Given the description of an element on the screen output the (x, y) to click on. 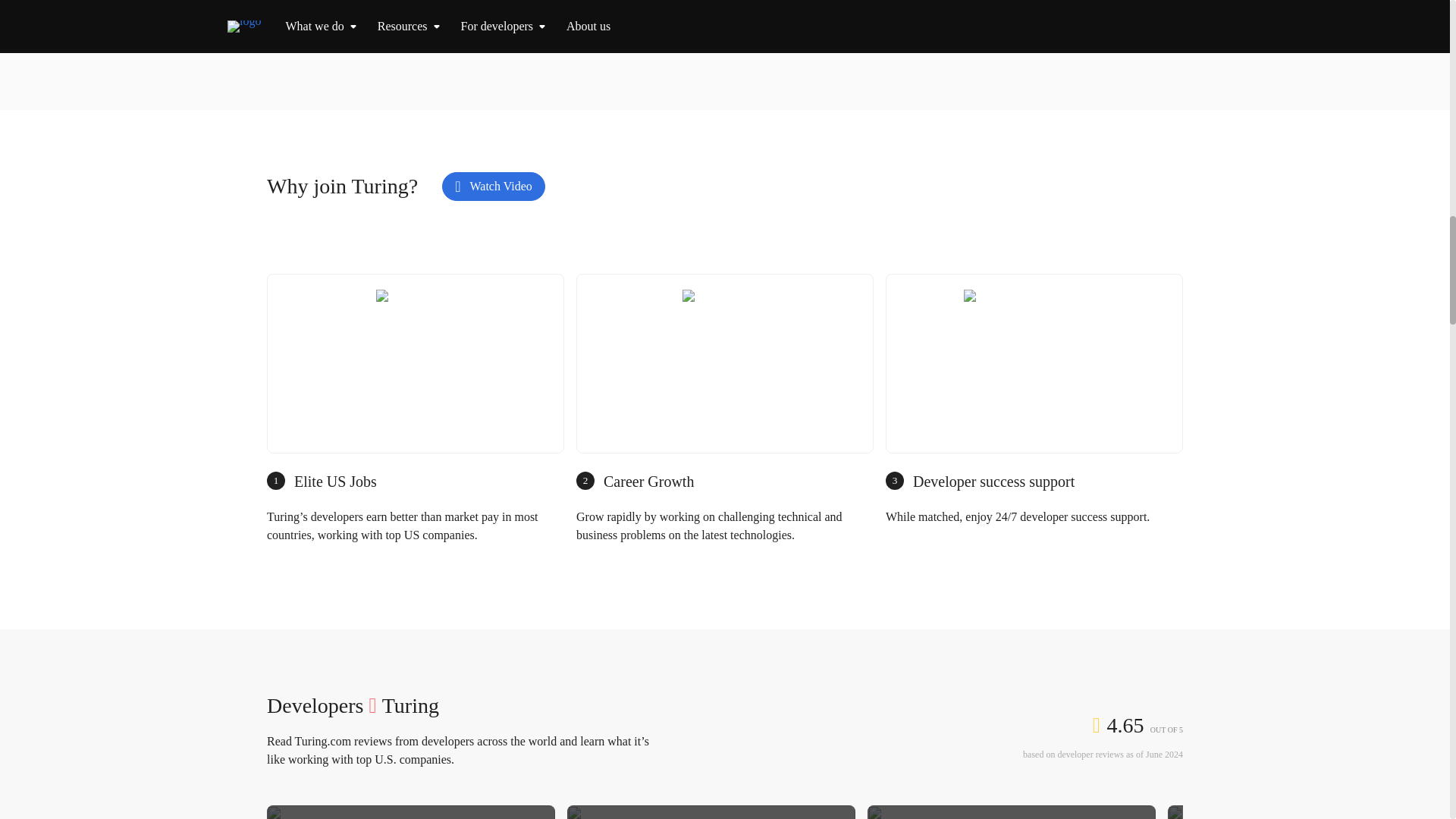
Watch Video (493, 185)
Apply now (699, 1)
